Given the description of an element on the screen output the (x, y) to click on. 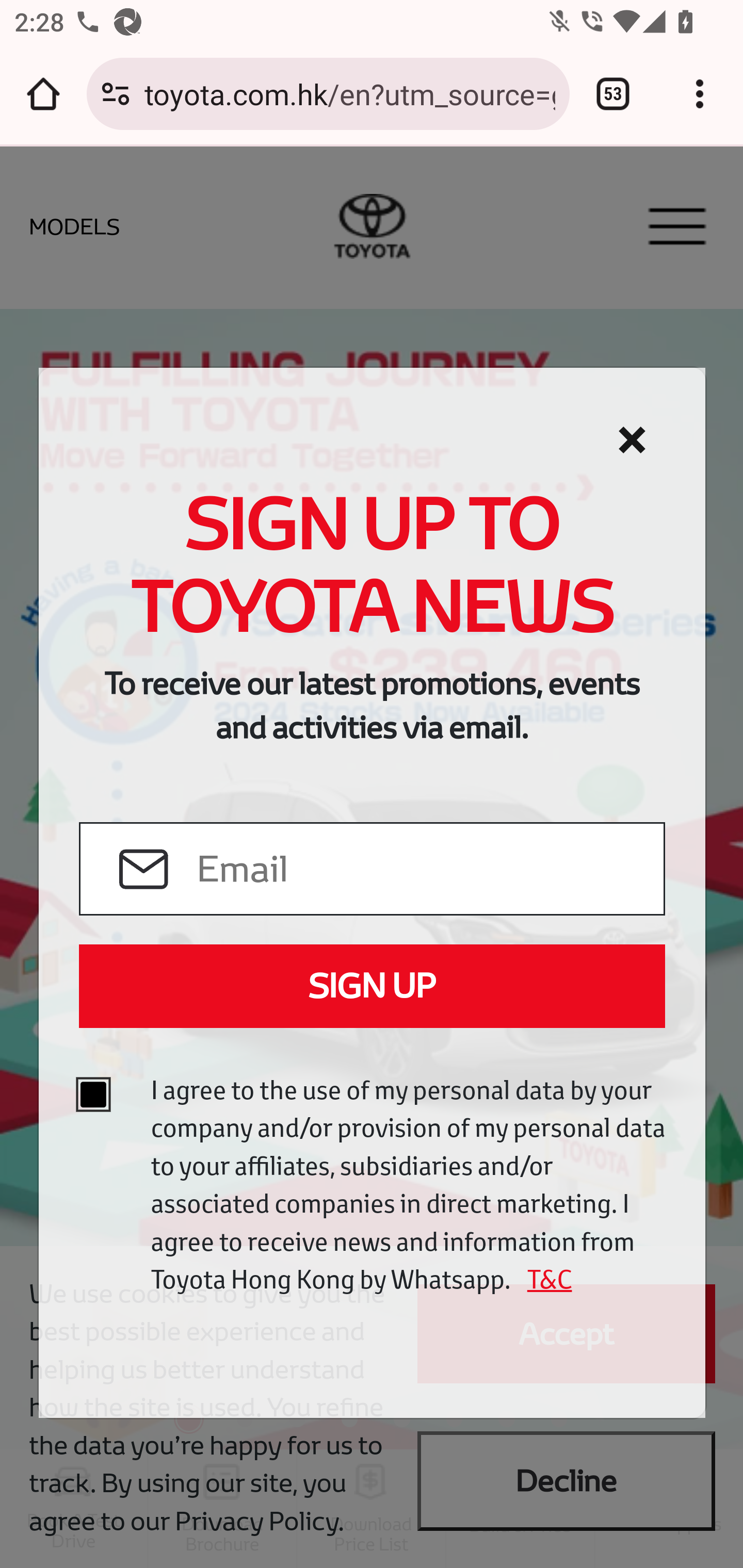
Open the home page (43, 93)
Connection is secure (115, 93)
Switch or close tabs (612, 93)
Customize and control Google Chrome (699, 93)
Cerrar (631, 440)
SIGN UP (371, 985)
T&C (543, 1279)
